Given the description of an element on the screen output the (x, y) to click on. 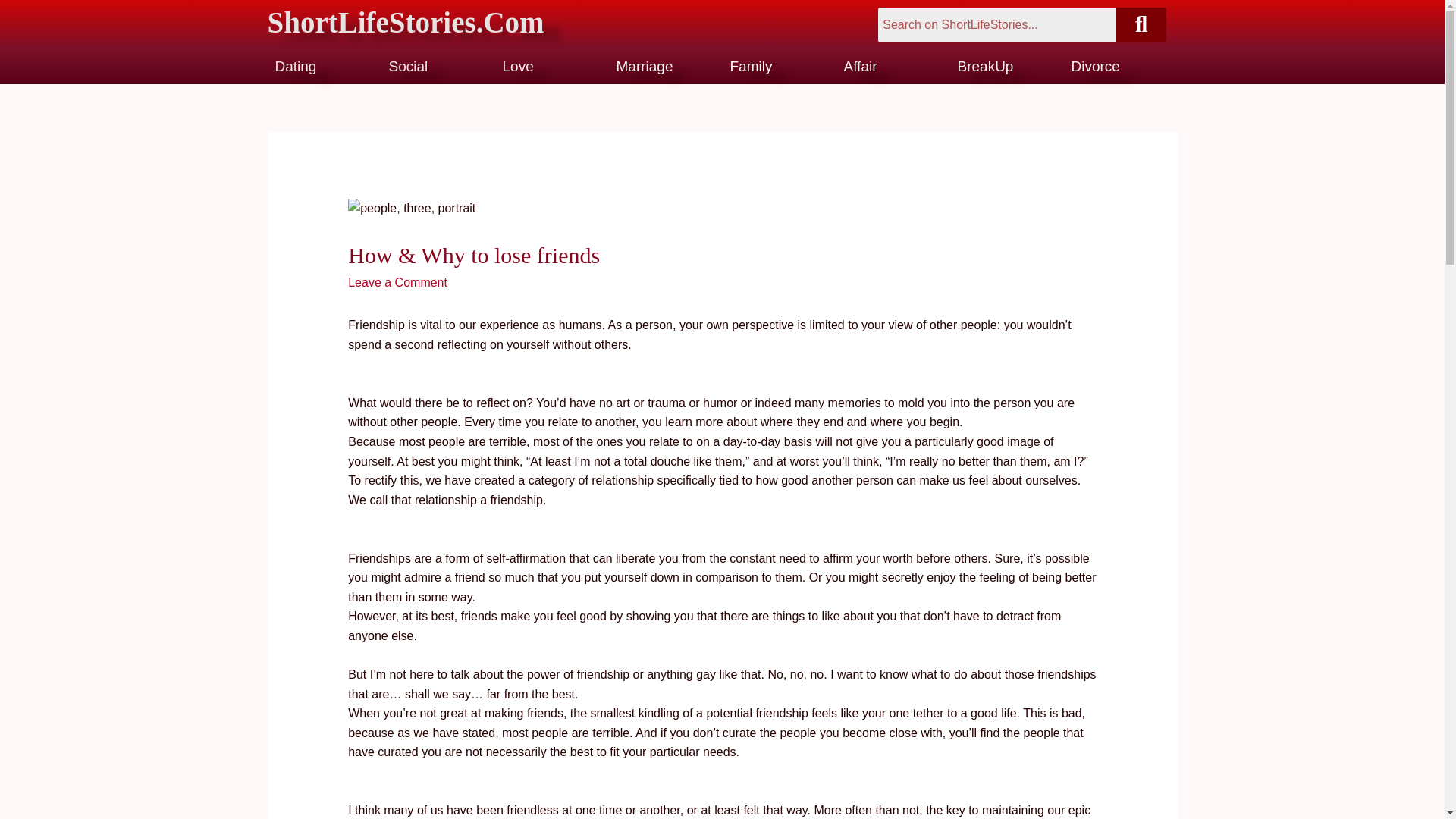
Family (750, 66)
Dating (295, 66)
Social (408, 66)
Affair (859, 66)
Leave a Comment (396, 282)
Love (517, 66)
BreakUp (984, 66)
Divorce (1094, 66)
ShortLifeStories.Com (451, 23)
Search (996, 24)
